Given the description of an element on the screen output the (x, y) to click on. 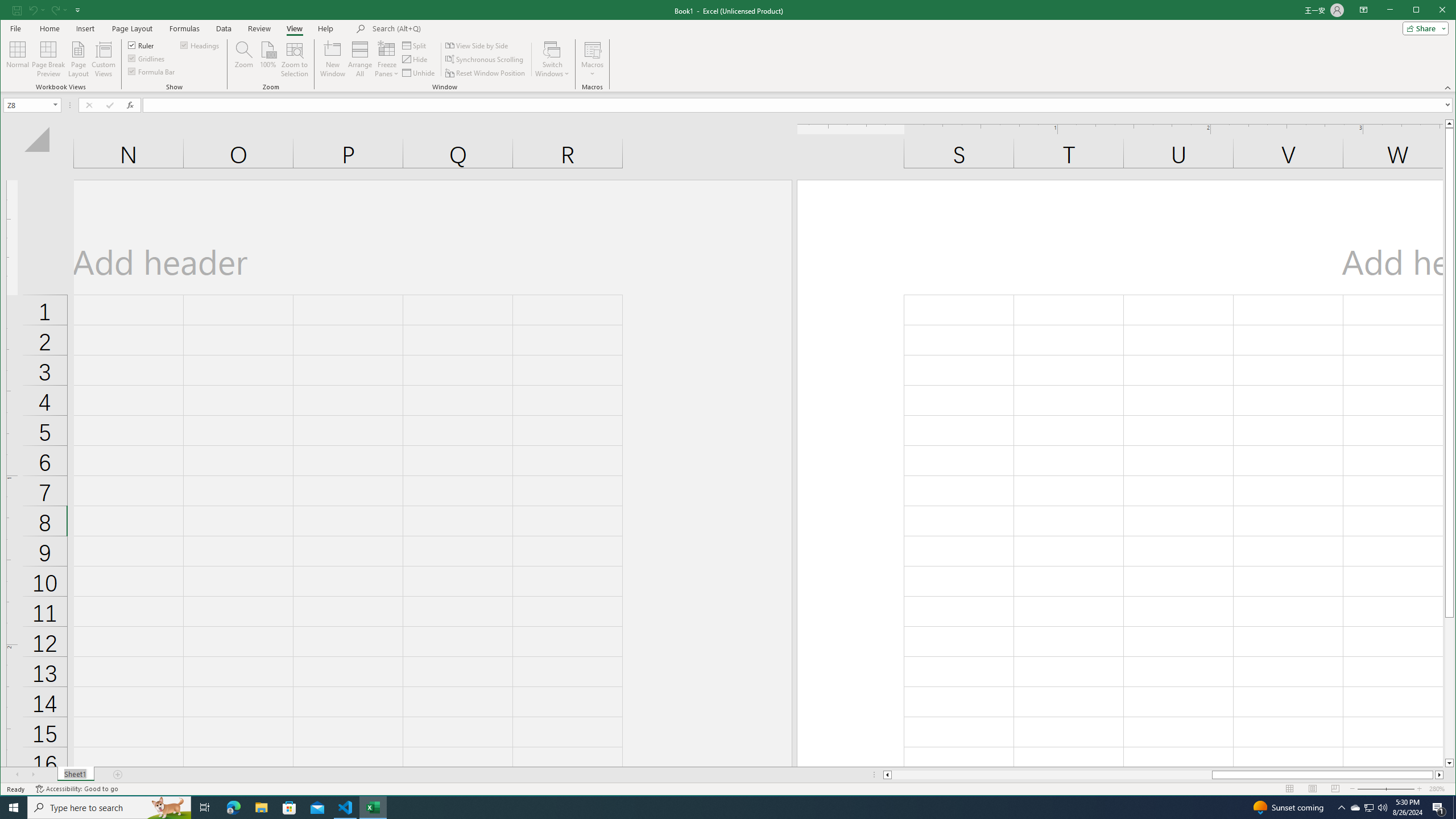
Custom Views... (103, 59)
Zoom to Selection (294, 59)
View Macros (592, 48)
Visual Studio Code - 1 running window (345, 807)
Q2790: 100% (1382, 807)
